Given the description of an element on the screen output the (x, y) to click on. 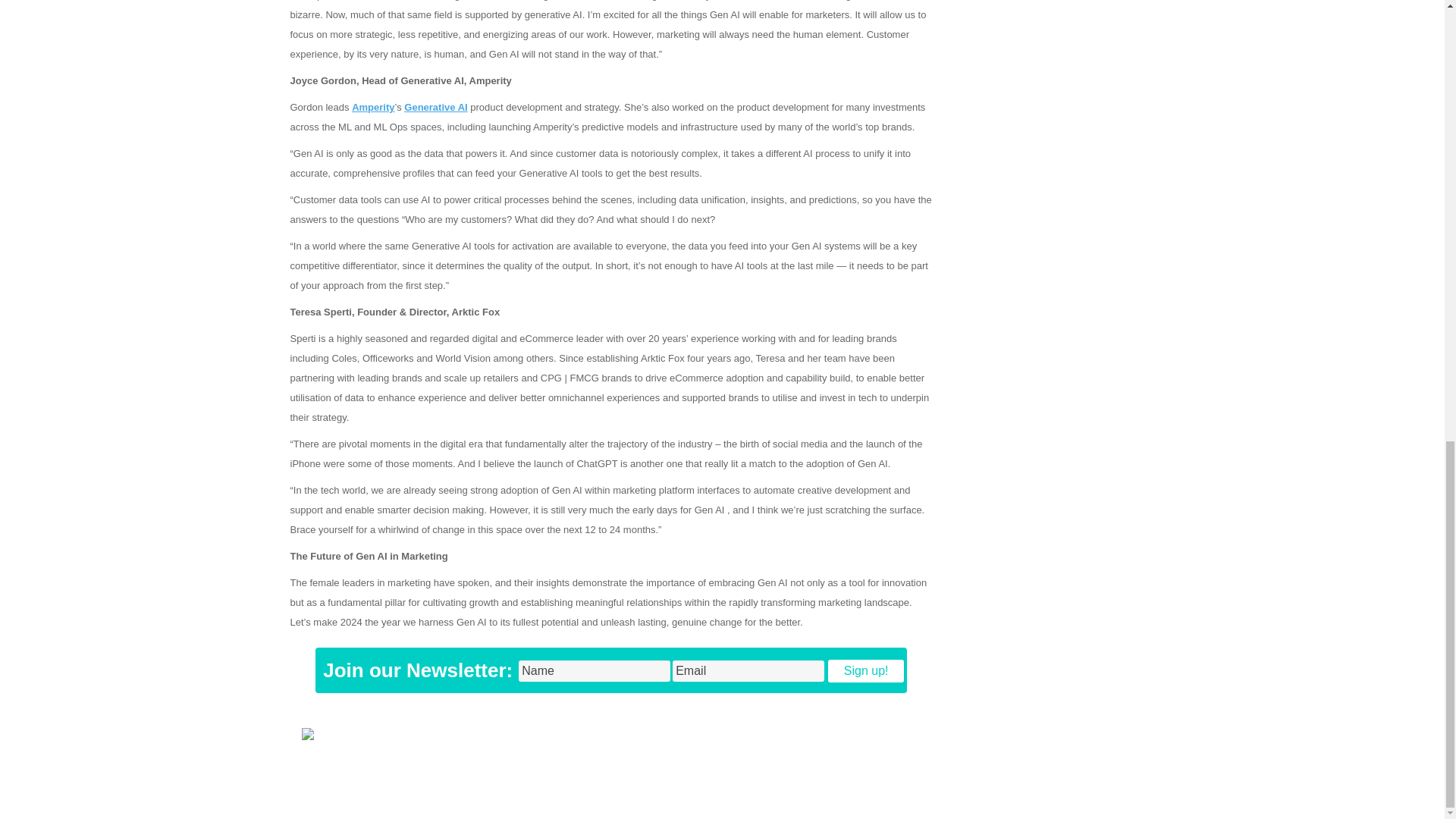
Sign up! (866, 671)
Amperity (373, 107)
Sign up! (866, 671)
Generative AI (435, 107)
